Given the description of an element on the screen output the (x, y) to click on. 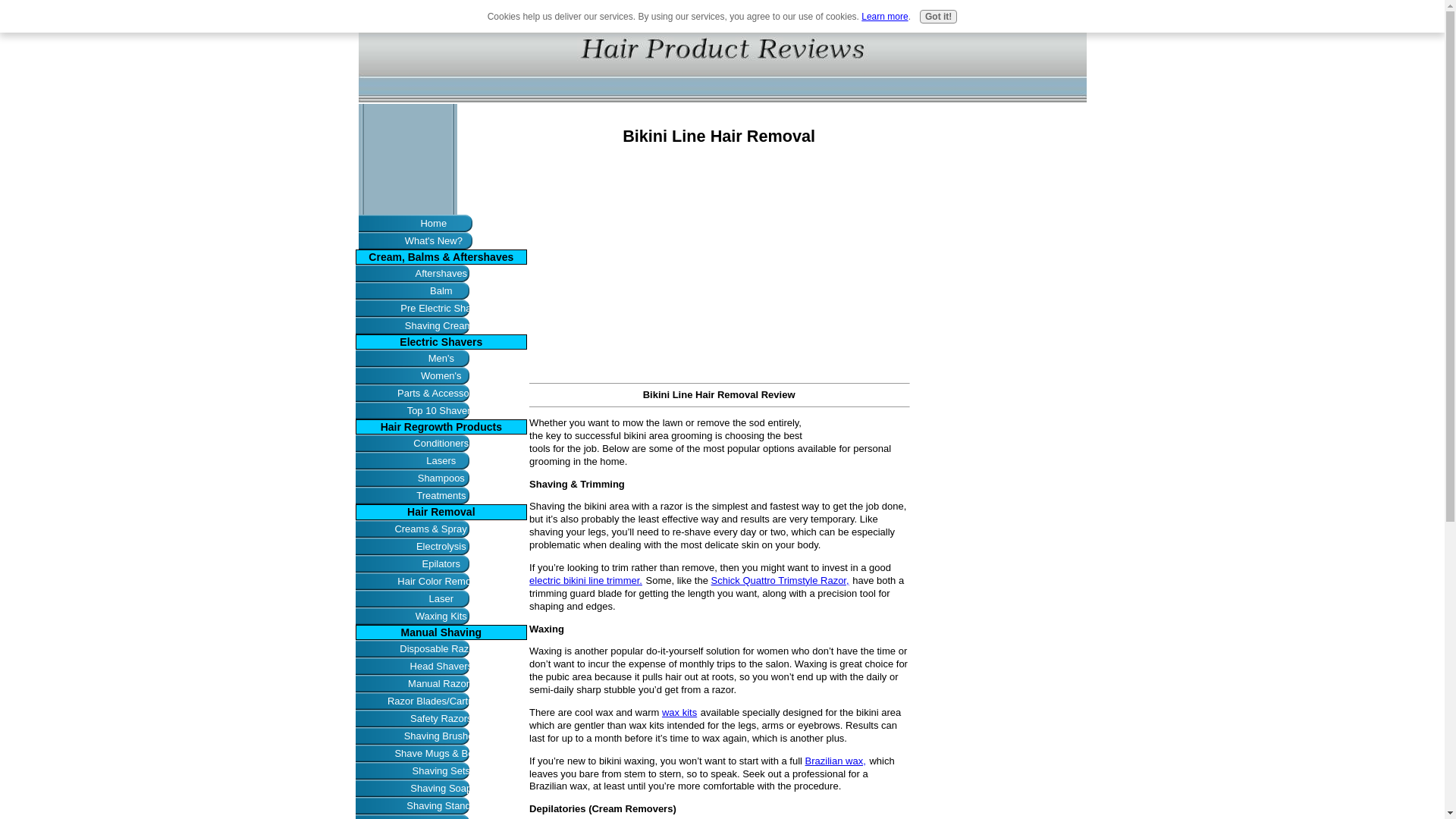
Head Shavers (441, 665)
Shaving Brushes (441, 735)
Conditioners (441, 443)
Pre Electric Shave (441, 307)
Waxing Kits (441, 615)
Top 10 Shavers (441, 410)
Treatments (441, 495)
Men's (441, 357)
Electrolysis (441, 546)
Lasers (441, 460)
